Given the description of an element on the screen output the (x, y) to click on. 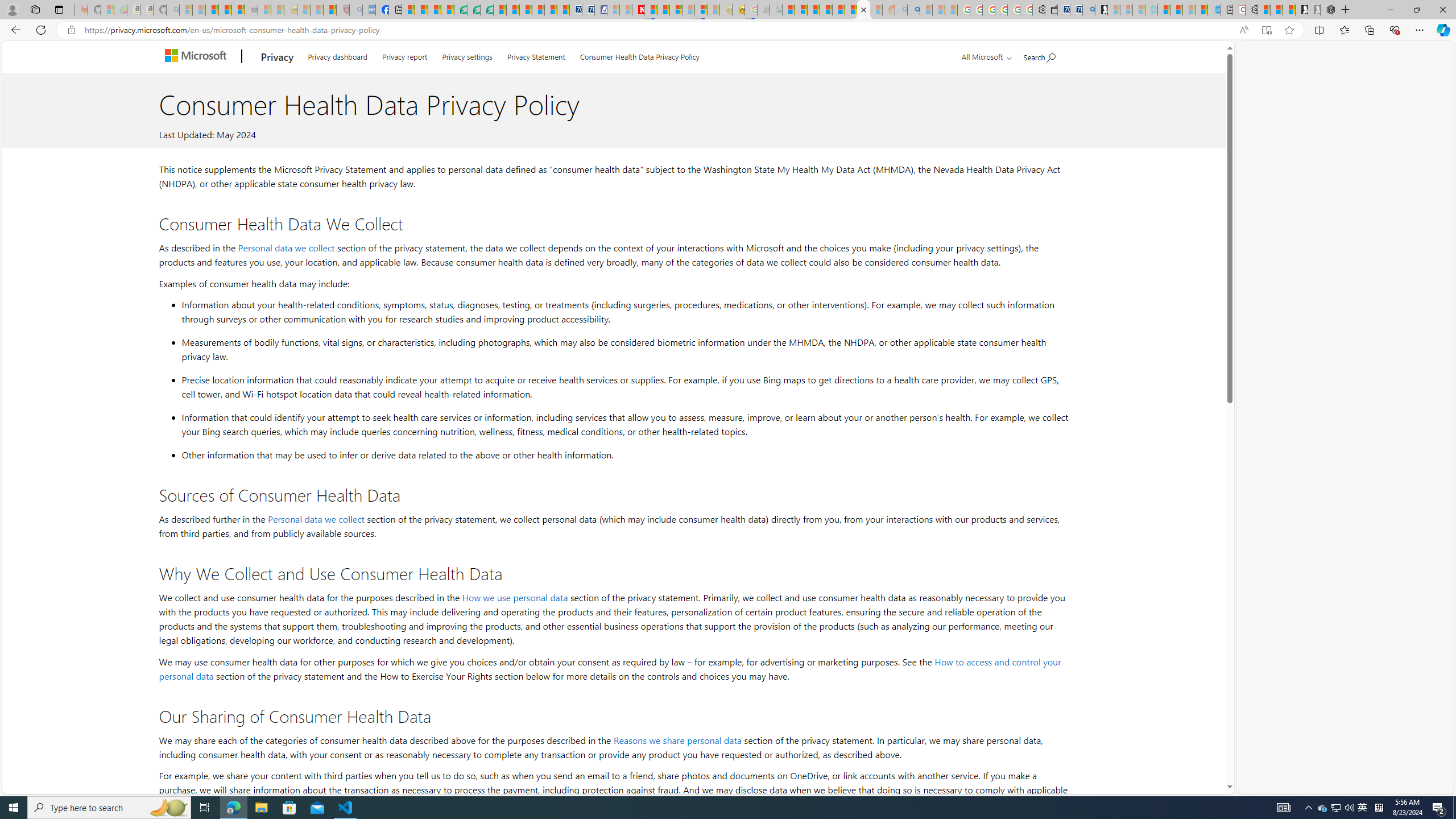
Cheap Hotels - Save70.com (587, 9)
Microsoft Word - consumer-privacy address update 2.2021 (486, 9)
Consumer Health Data Privacy Policy (639, 54)
New Report Confirms 2023 Was Record Hot | Watch (237, 9)
